Given the description of an element on the screen output the (x, y) to click on. 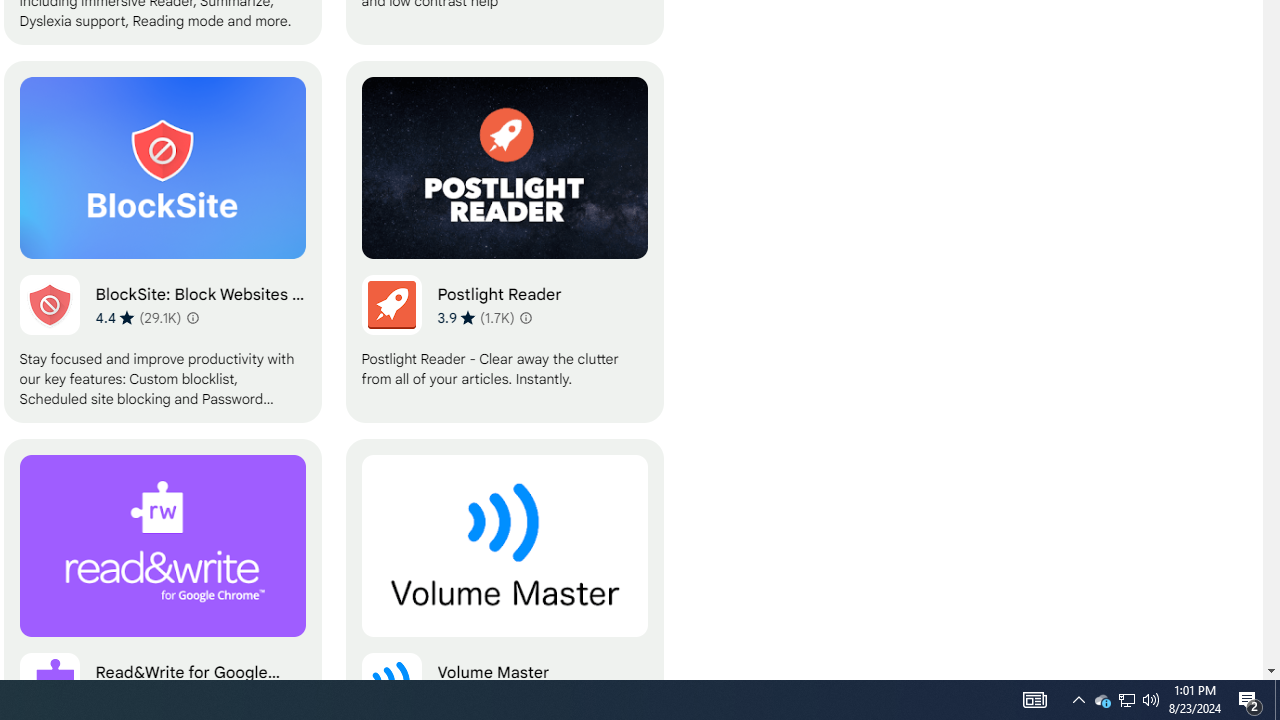
BlockSite: Block Websites & Stay Focused (162, 242)
Postlight Reader (504, 242)
Learn more about results and reviews "Postlight Reader" (525, 317)
Average rating 3.9 out of 5 stars. 1.7K ratings. (475, 317)
Average rating 4.4 out of 5 stars. 29.1K ratings. (137, 317)
